Given the description of an element on the screen output the (x, y) to click on. 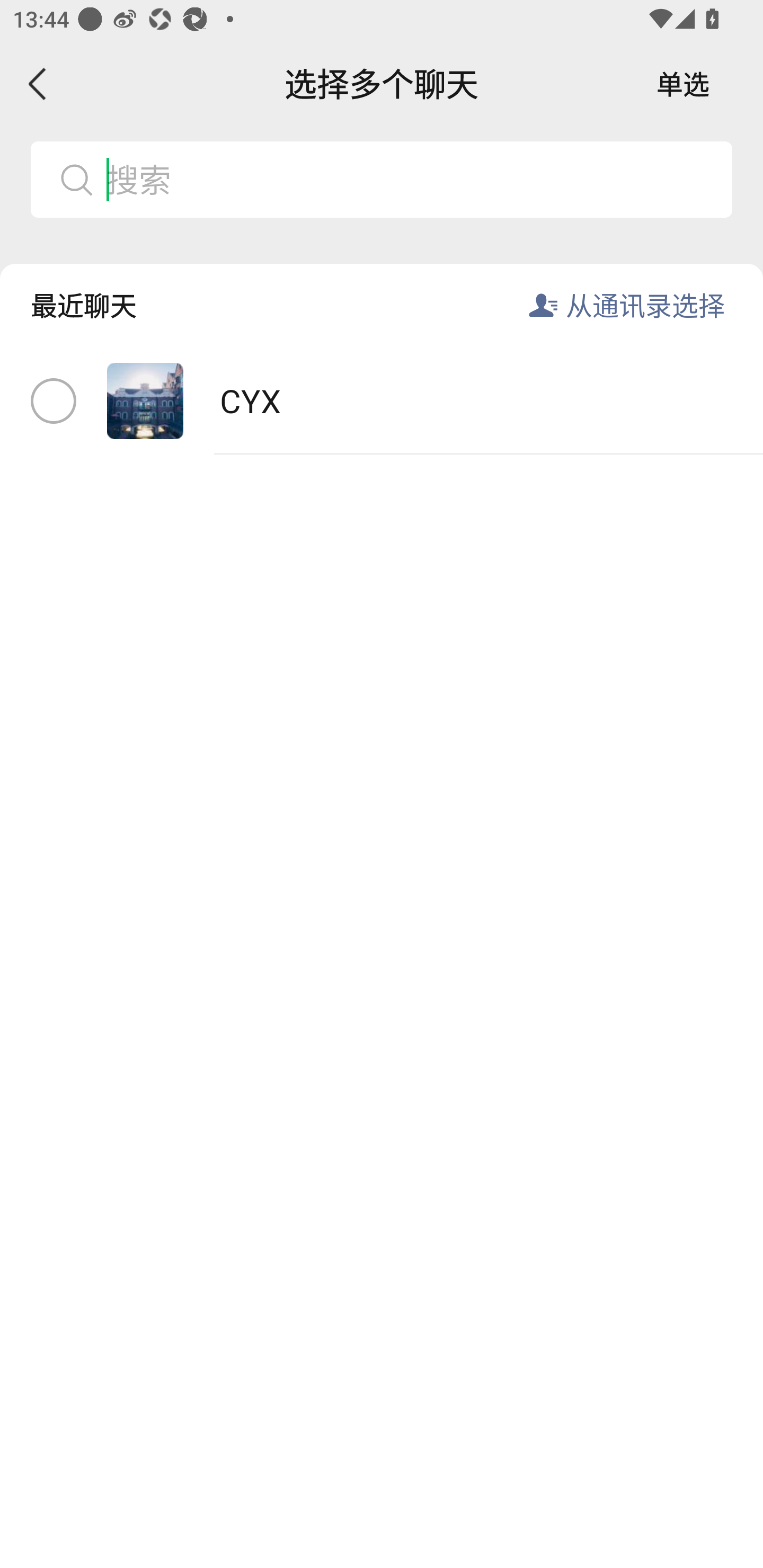
返回 (38, 83)
单选 (683, 83)
搜索 (411, 179)
从通讯录选择 (645, 304)
CYX (381, 401)
